Given the description of an element on the screen output the (x, y) to click on. 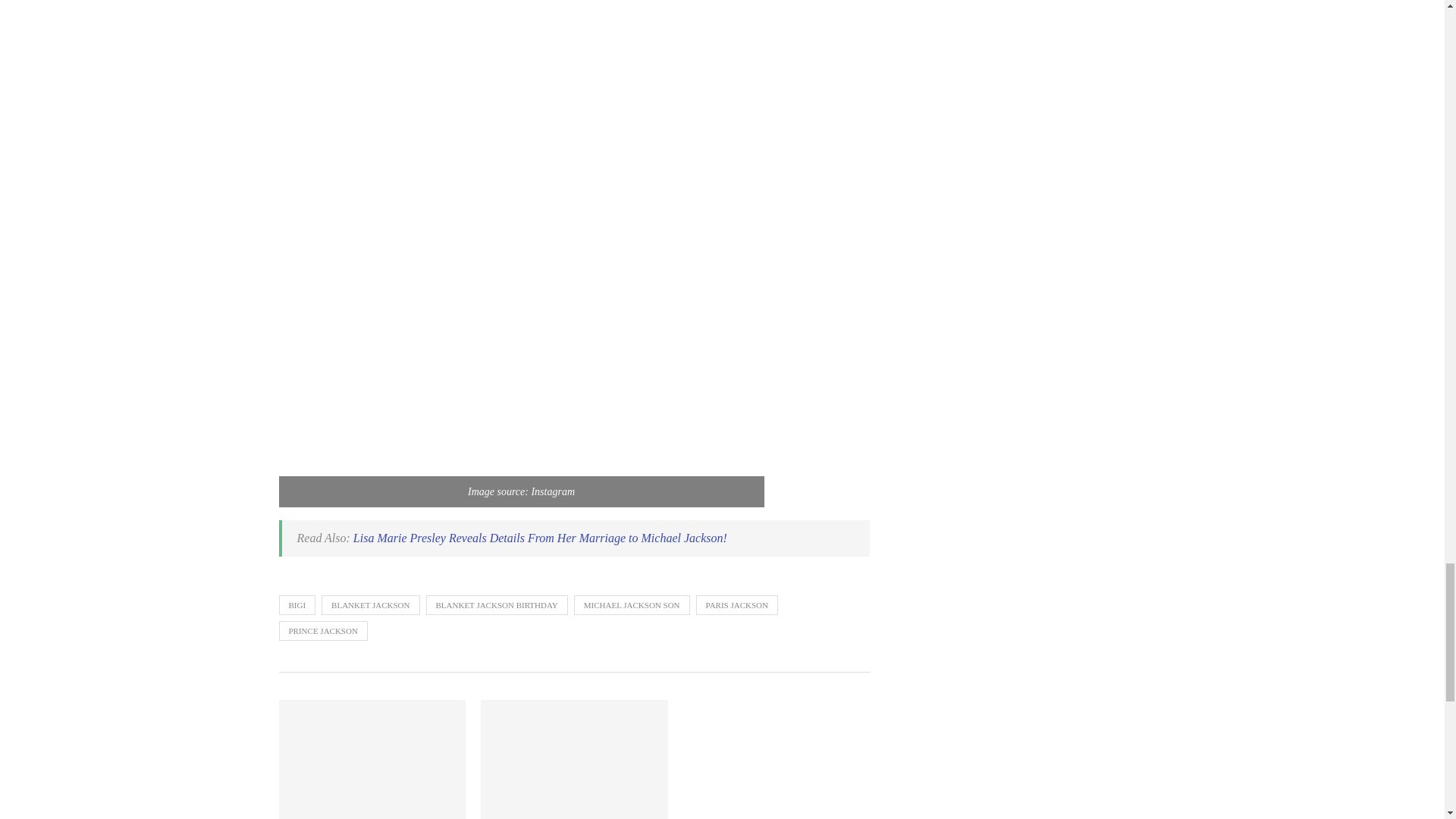
MICHAEL JACKSON SON (631, 605)
PARIS JACKSON (736, 605)
BLANKET JACKSON (370, 605)
BIGI (297, 605)
PRINCE JACKSON (323, 630)
BLANKET JACKSON BIRTHDAY (496, 605)
